Given the description of an element on the screen output the (x, y) to click on. 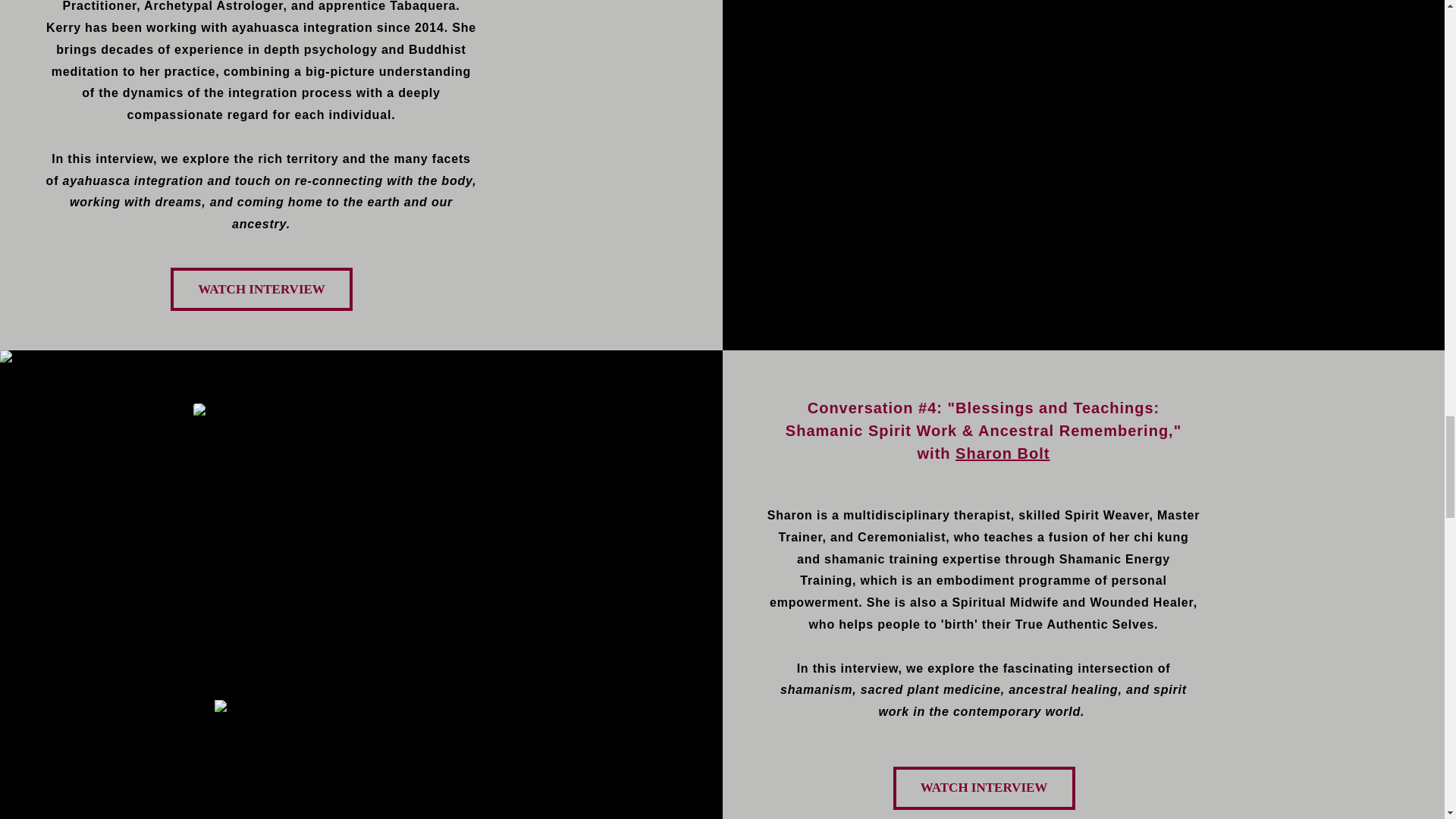
WATCH INTERVIEW (261, 289)
Sharon Bolt (1002, 453)
WATCH INTERVIEW (984, 787)
